Given the description of an element on the screen output the (x, y) to click on. 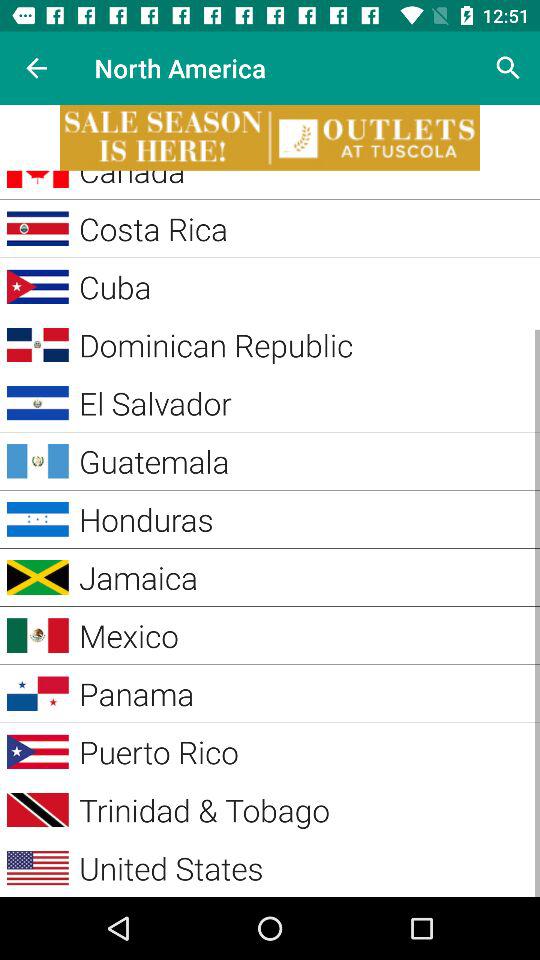
title image page (270, 137)
